Given the description of an element on the screen output the (x, y) to click on. 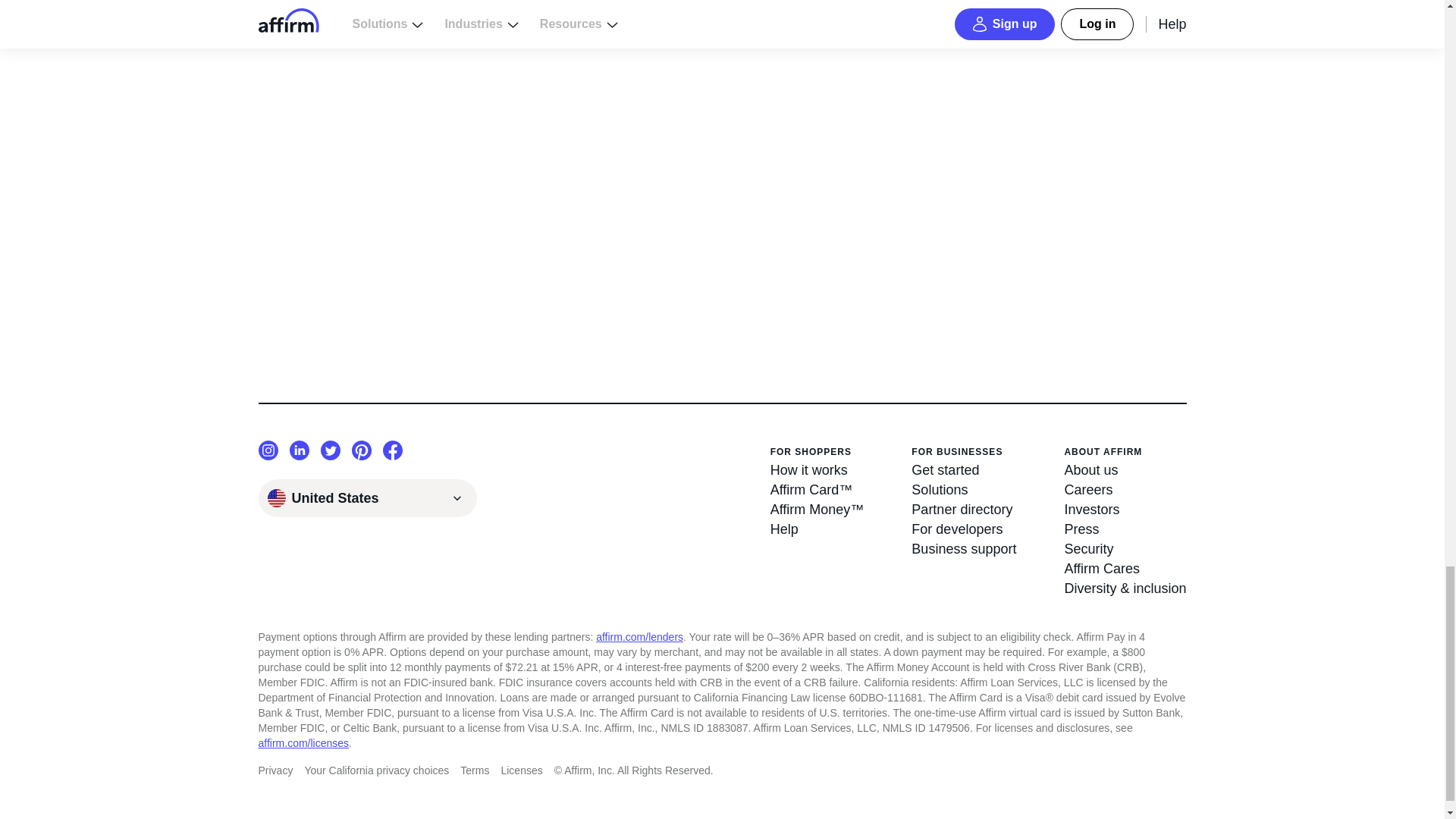
For developers (963, 528)
About us (1125, 469)
Investors (1125, 509)
Solutions (963, 489)
Press (1125, 528)
Get started (963, 469)
Careers (1125, 489)
Business support (963, 548)
Security (1125, 548)
Help (817, 528)
